Given the description of an element on the screen output the (x, y) to click on. 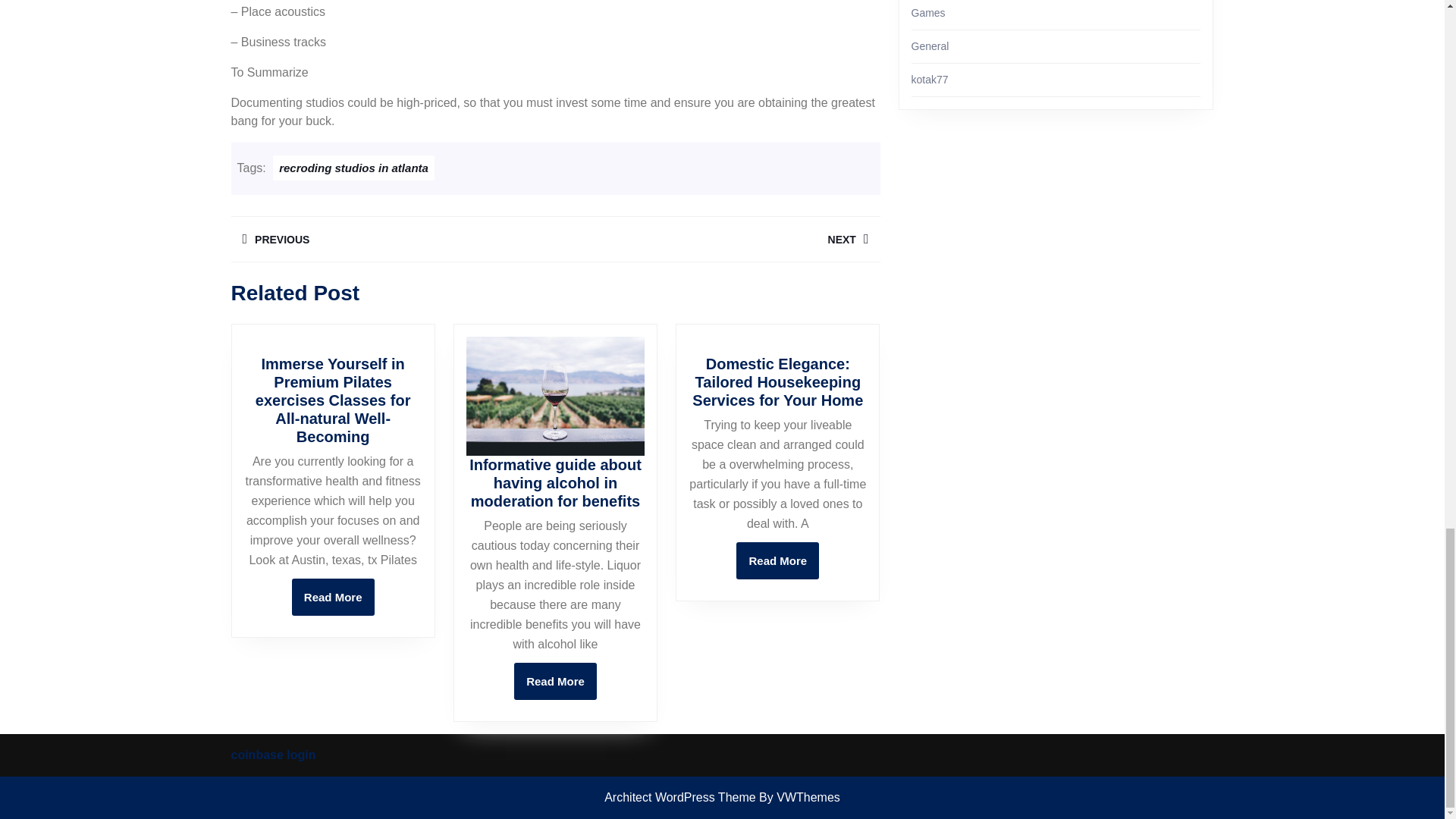
recroding studios in atlanta (554, 681)
